Given the description of an element on the screen output the (x, y) to click on. 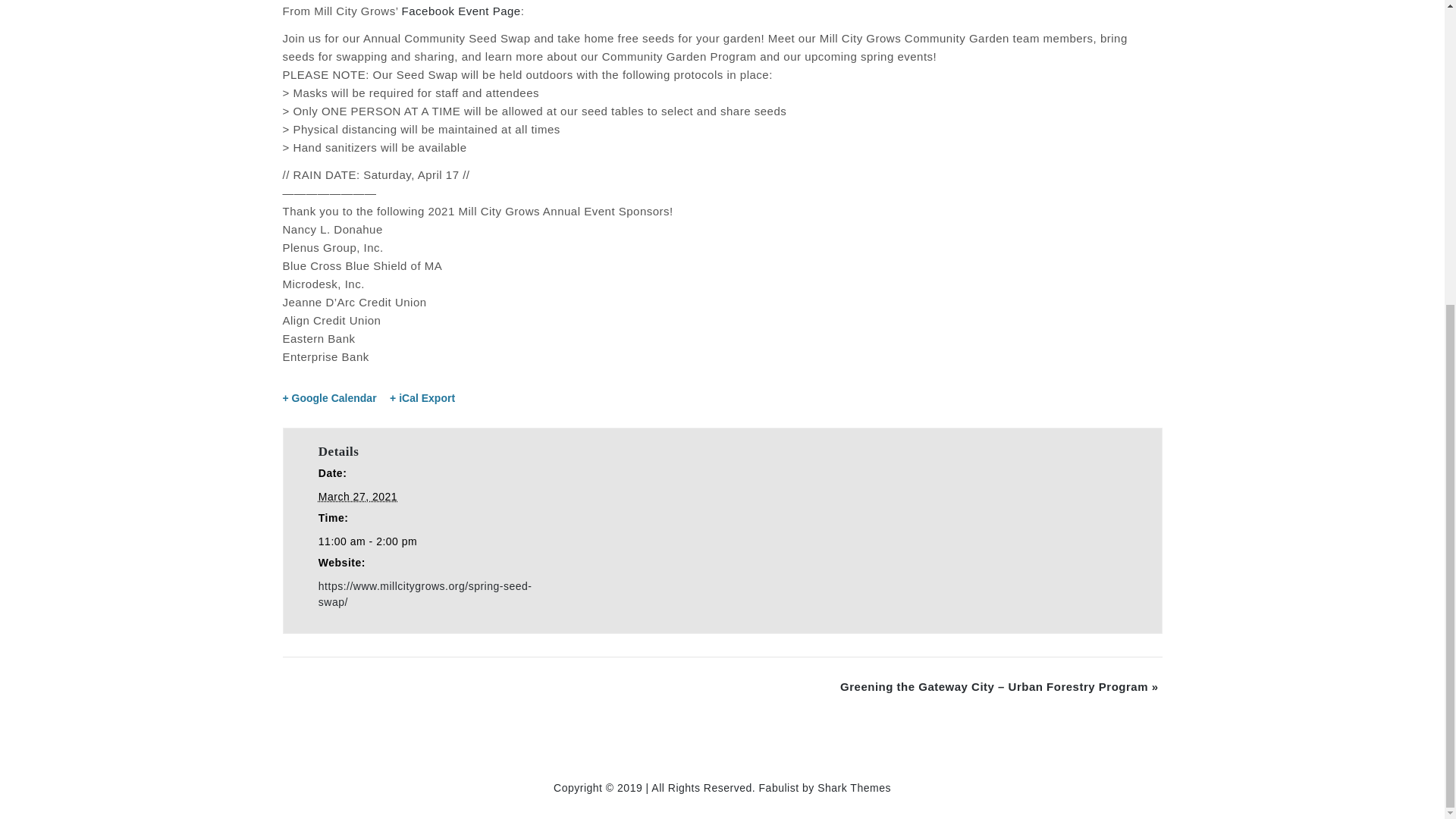
Download .ics file (422, 397)
Shark Themes (853, 787)
2021-03-27 (429, 541)
Facebook Event Page (461, 10)
2021-03-27 (357, 496)
Add to Google Calendar (328, 397)
